Given the description of an element on the screen output the (x, y) to click on. 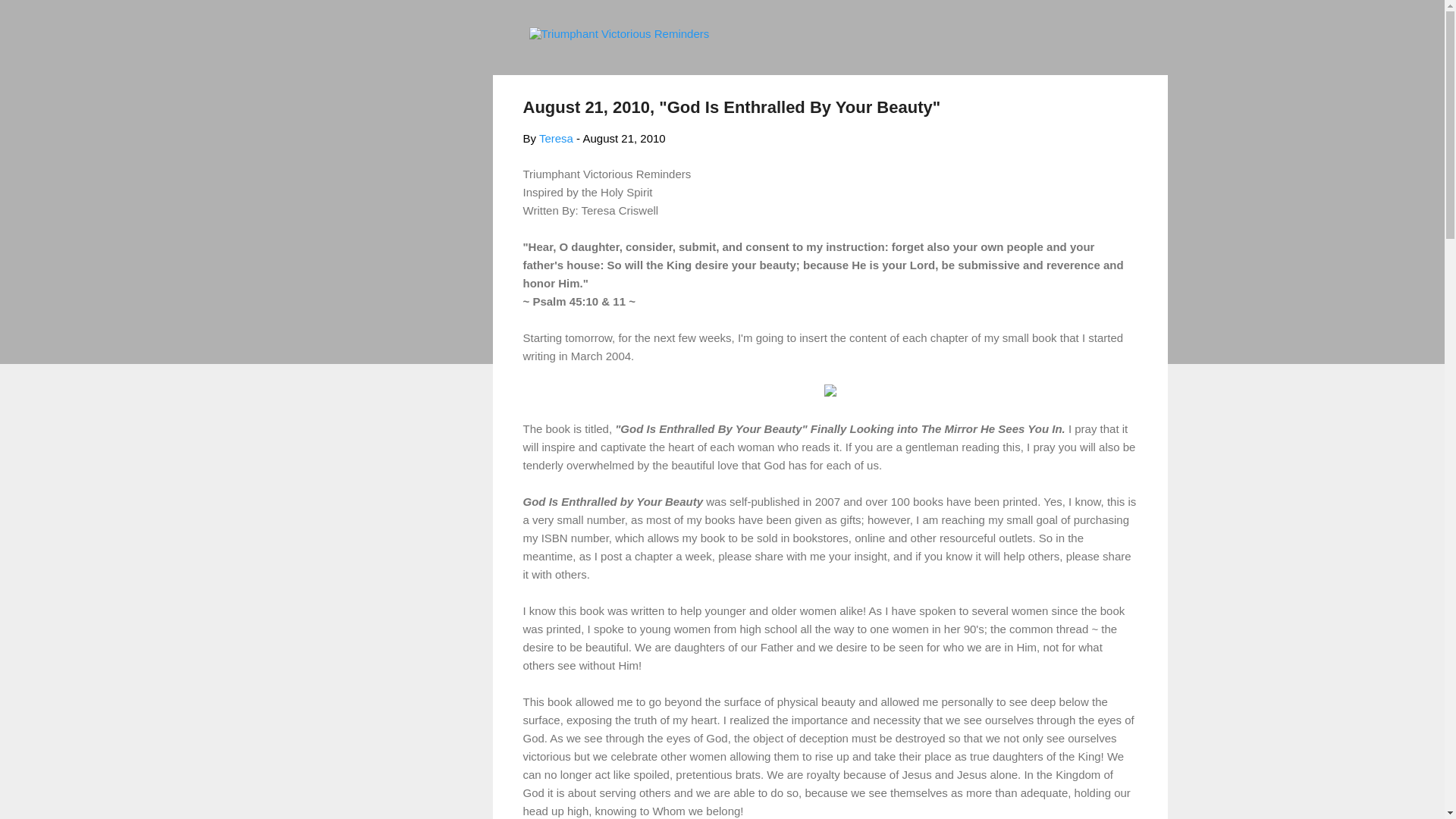
Teresa (555, 137)
permanent link (623, 137)
August 21, 2010 (623, 137)
Search (29, 18)
author profile (555, 137)
